Given the description of an element on the screen output the (x, y) to click on. 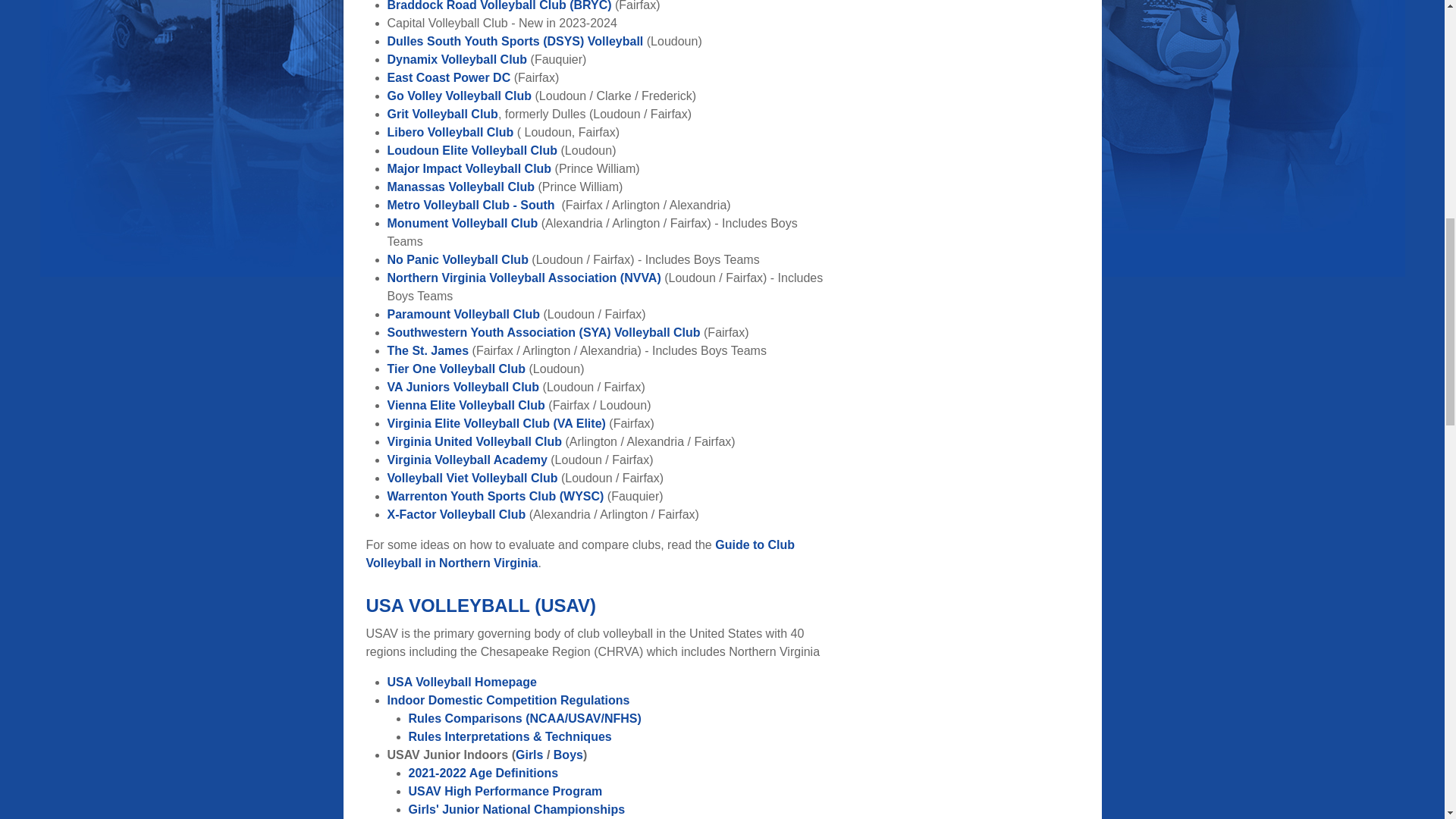
Grit Volleyball Club (442, 113)
Metro Volleyball Club - South (470, 205)
Go Volley Volleyball Club  (460, 95)
East Coast Power DC (449, 77)
Libero Volleyball Club (450, 132)
Monument Volleyball Club (462, 223)
Loudoun Elite Volleyball Club (472, 150)
Dynamix Volleyball Club (457, 59)
Major Impact Volleyball Club (469, 168)
Manassas Volleyball Club (460, 186)
